Given the description of an element on the screen output the (x, y) to click on. 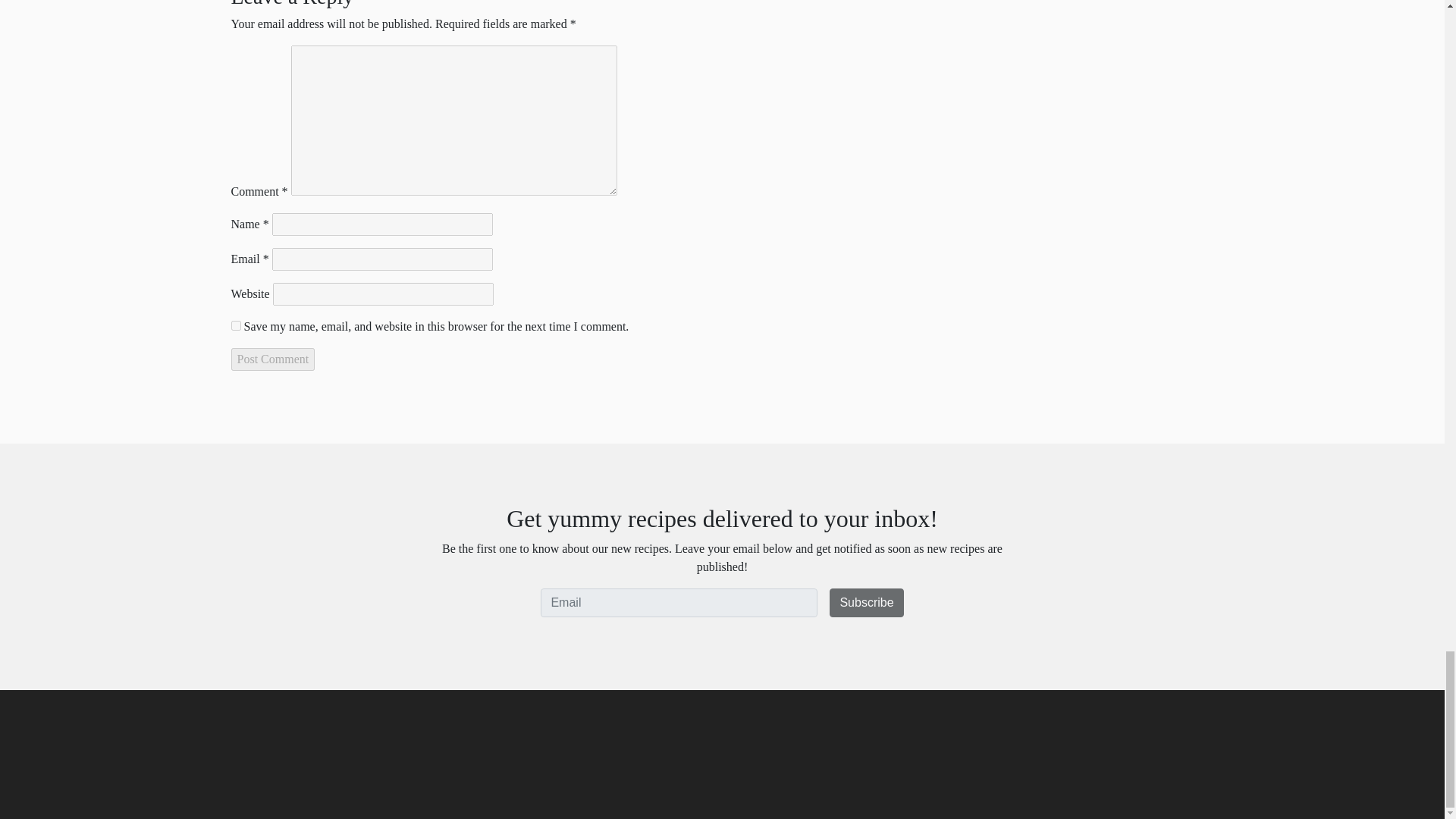
Post Comment (272, 359)
Post Comment (272, 359)
Subscribe (865, 602)
Subscribe (865, 602)
yes (235, 325)
